Given the description of an element on the screen output the (x, y) to click on. 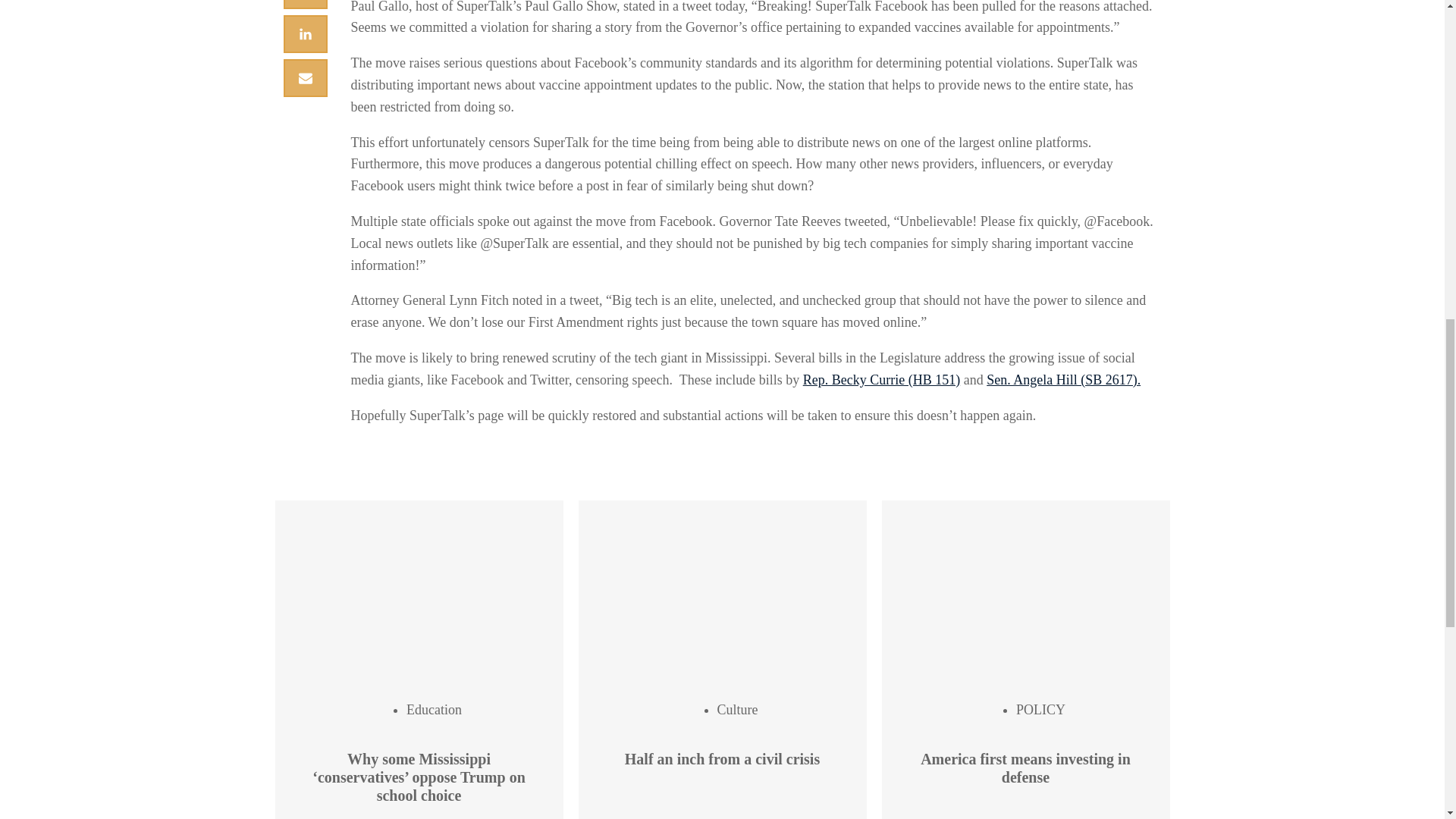
Education (433, 709)
